Given the description of an element on the screen output the (x, y) to click on. 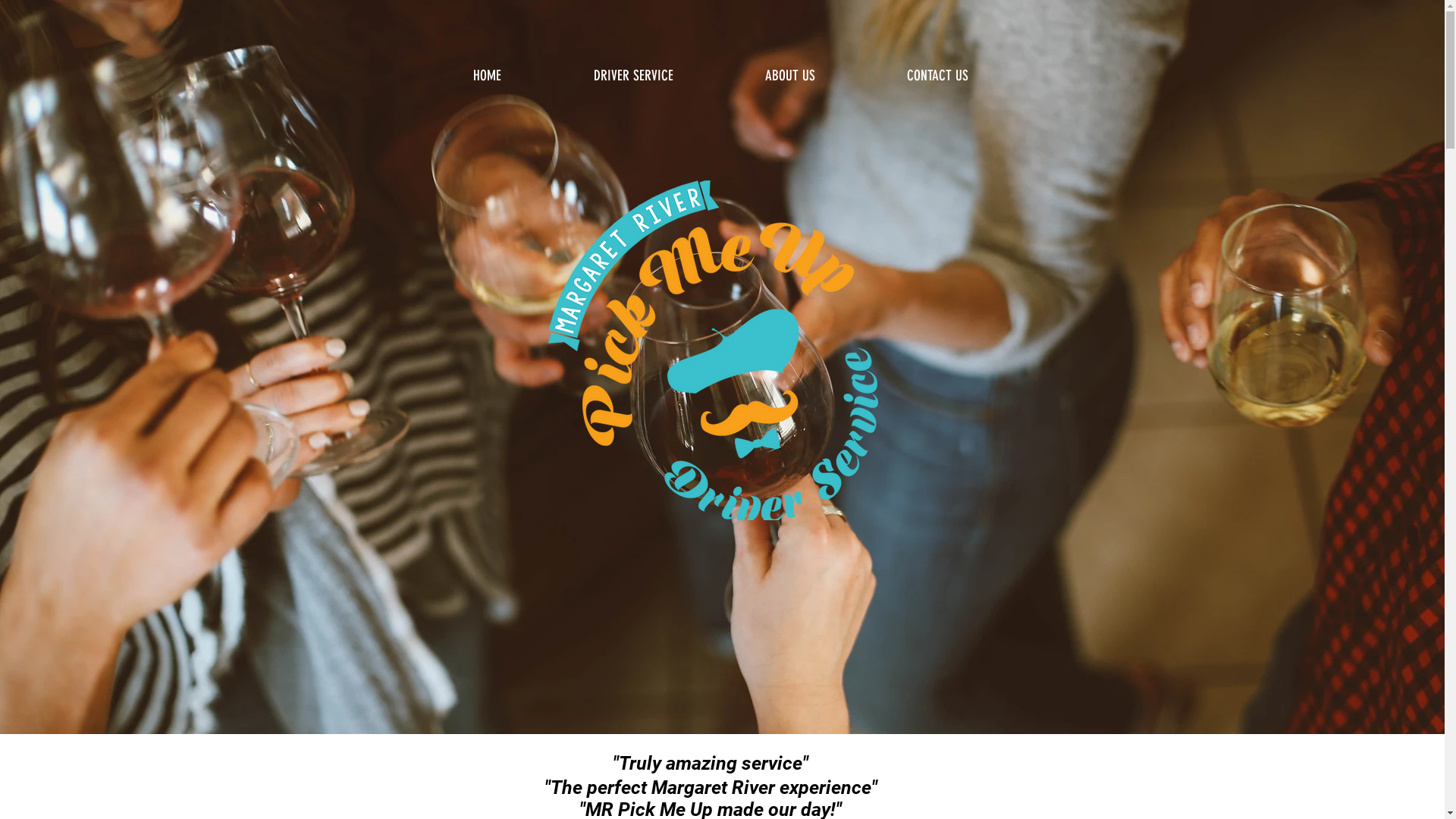
CONTACT US Element type: text (937, 74)
ABOUT US Element type: text (789, 74)
HOME Element type: text (486, 74)
DRIVER SERVICE Element type: text (633, 74)
